Given the description of an element on the screen output the (x, y) to click on. 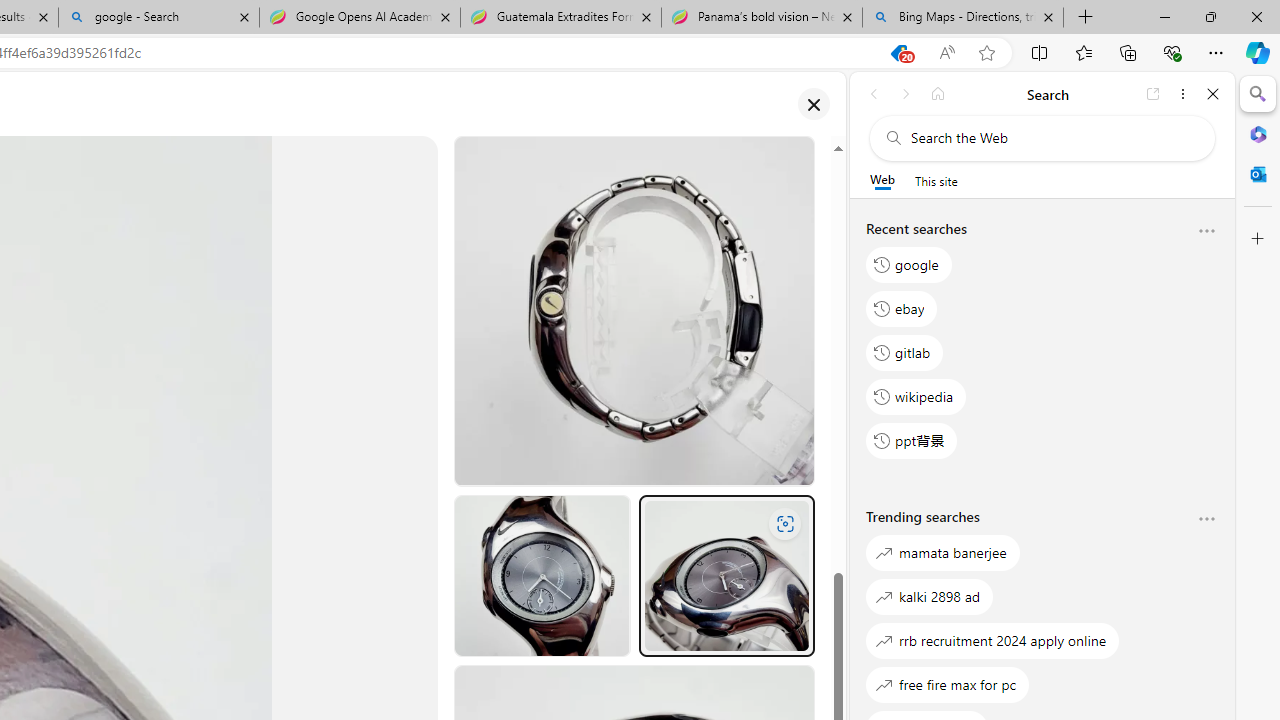
ebay (902, 308)
You have the best price! Shopping in Microsoft Edge, 20 (898, 53)
gitlab (905, 352)
